Given the description of an element on the screen output the (x, y) to click on. 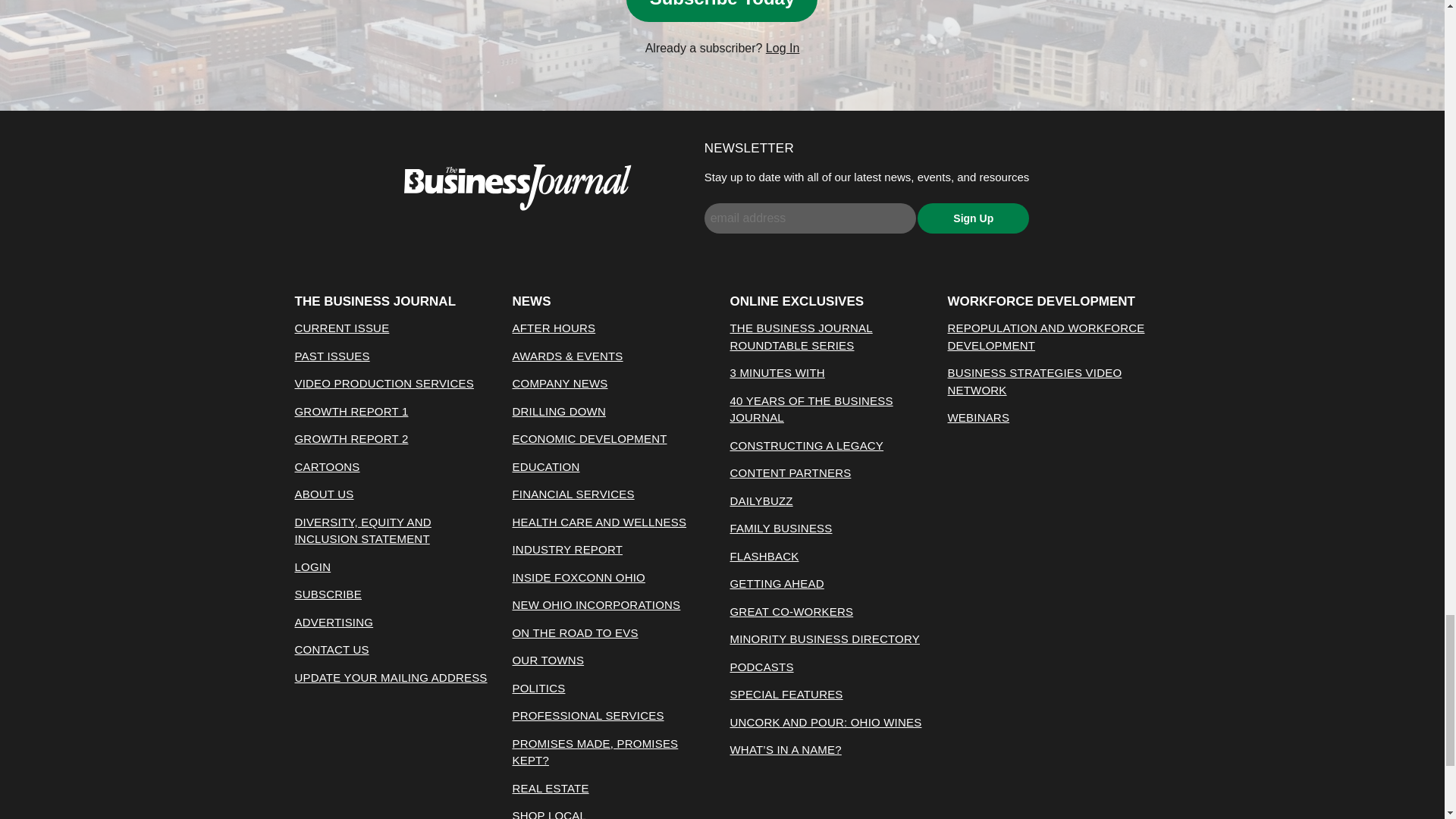
Sign Up (973, 218)
